Given the description of an element on the screen output the (x, y) to click on. 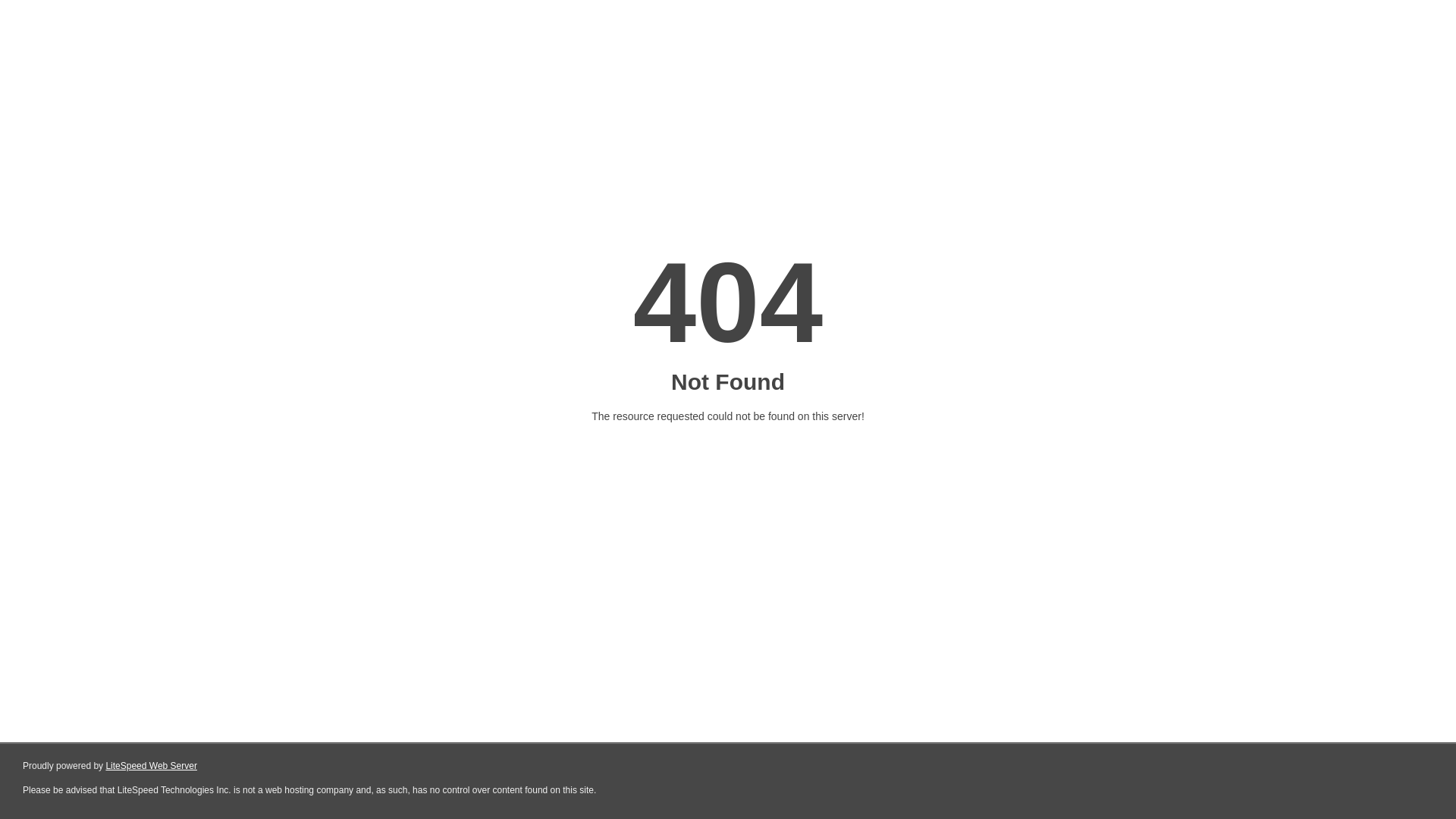
LiteSpeed Web Server Element type: text (151, 765)
